Given the description of an element on the screen output the (x, y) to click on. 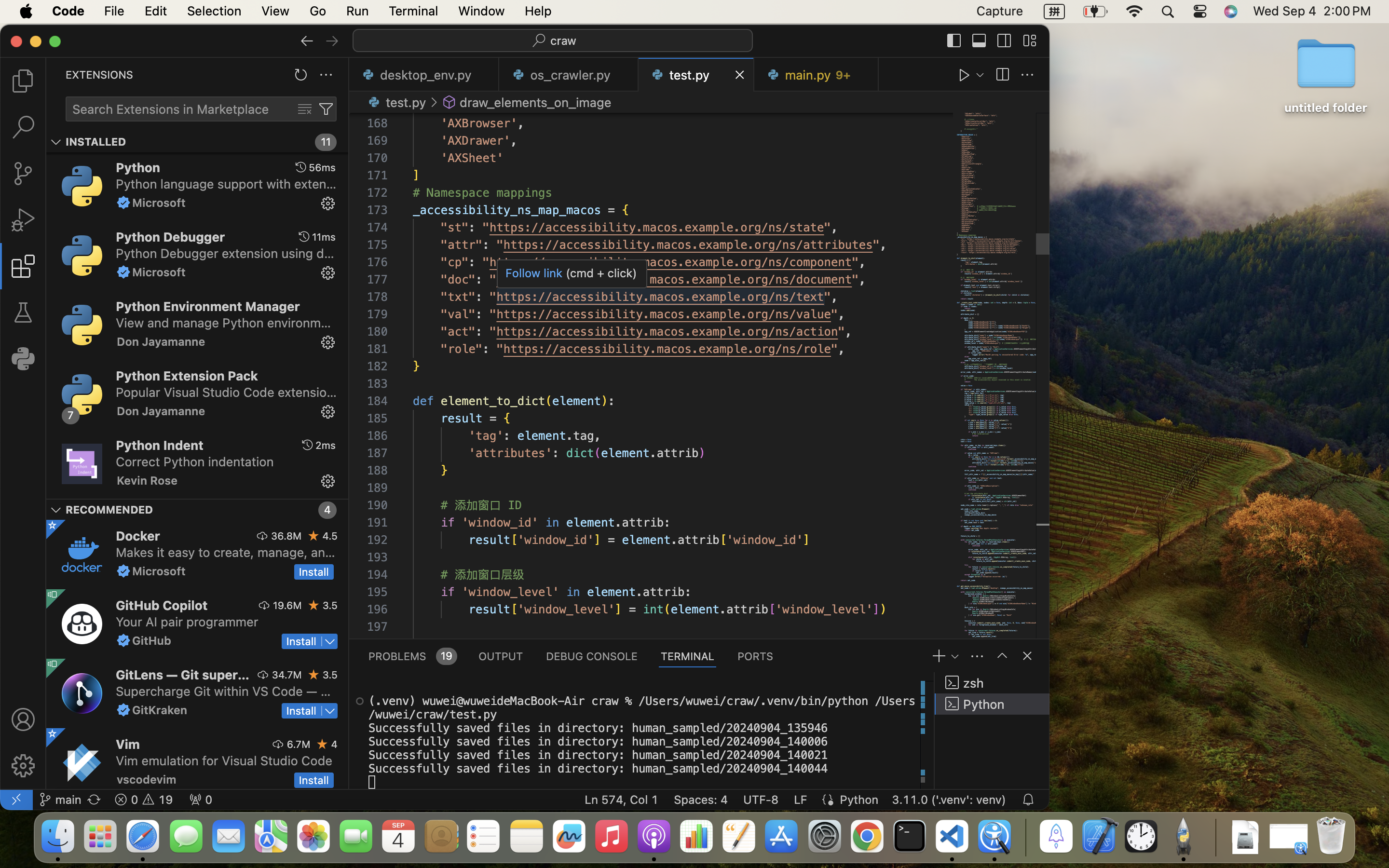
 Element type: AXStaticText (433, 101)
Python Indent Element type: AXStaticText (159, 444)
0  Element type: AXRadioButton (23, 173)
 Element type: AXCheckBox (978, 40)
Python language support with extension access points for IntelliSense (Pylance), Debugging (Python Debugger), linting, formatting, refactoring, unit tests, and more. Element type: AXStaticText (225, 183)
